Given the description of an element on the screen output the (x, y) to click on. 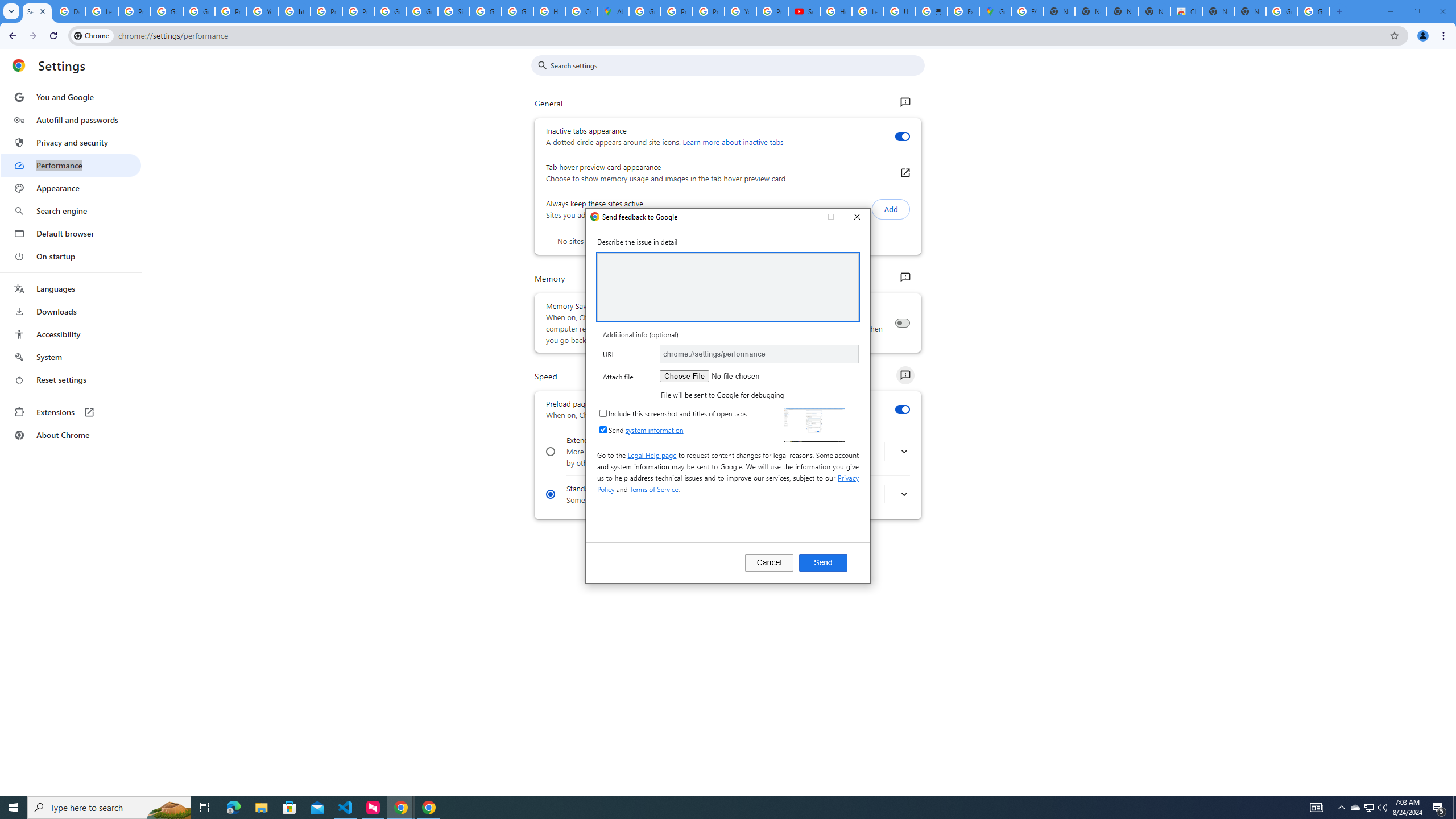
Maximize (831, 217)
Action Center, 5 new notifications (1439, 807)
Google Account Help (166, 11)
Extensions (70, 412)
How Chrome protects your passwords - Google Chrome Help (836, 11)
You and Google (70, 96)
system information (654, 429)
https://scholar.google.com/ (294, 11)
